Given the description of an element on the screen output the (x, y) to click on. 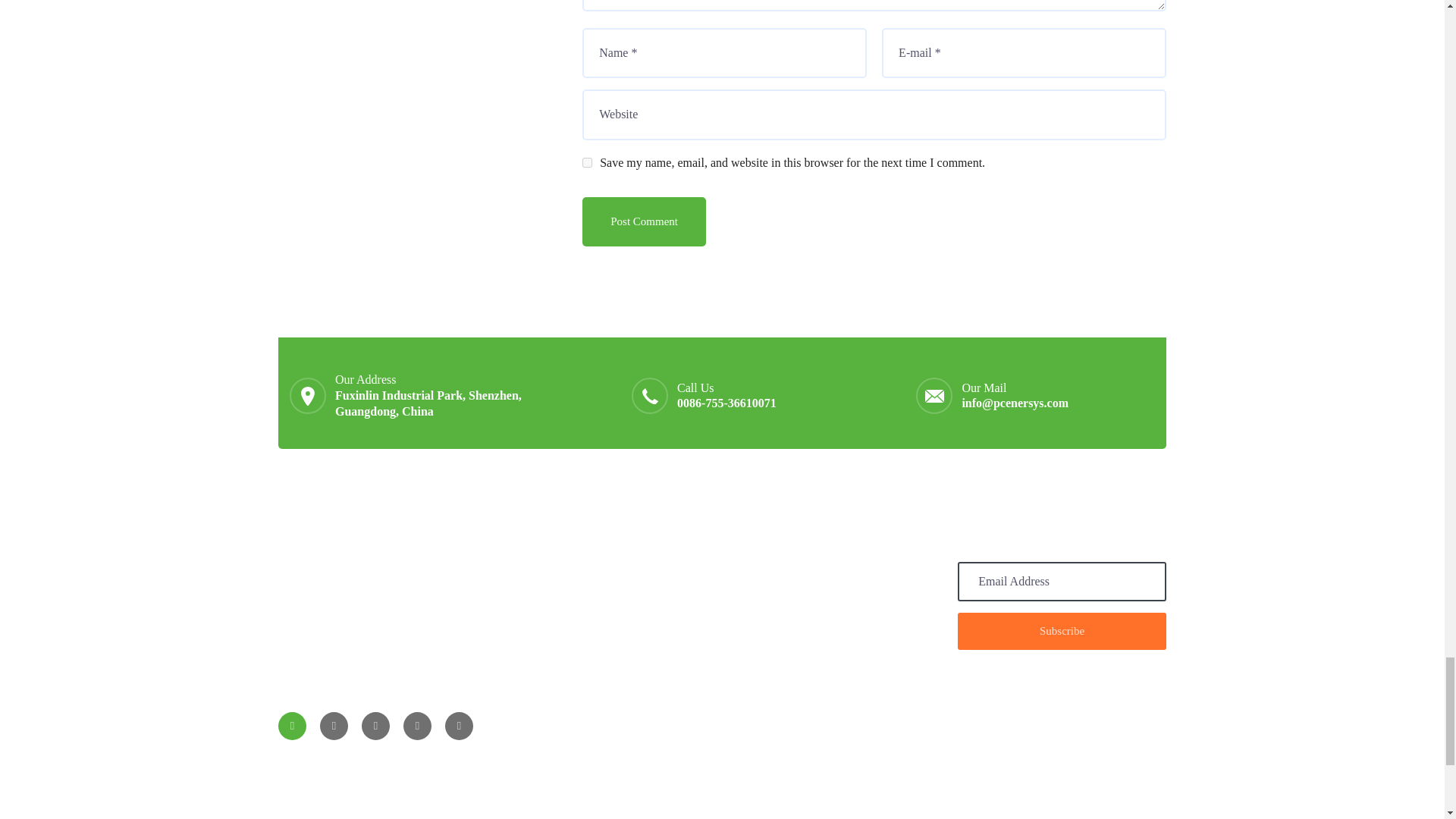
Post comment (644, 221)
Subscribe (1062, 631)
yes (587, 162)
